Given the description of an element on the screen output the (x, y) to click on. 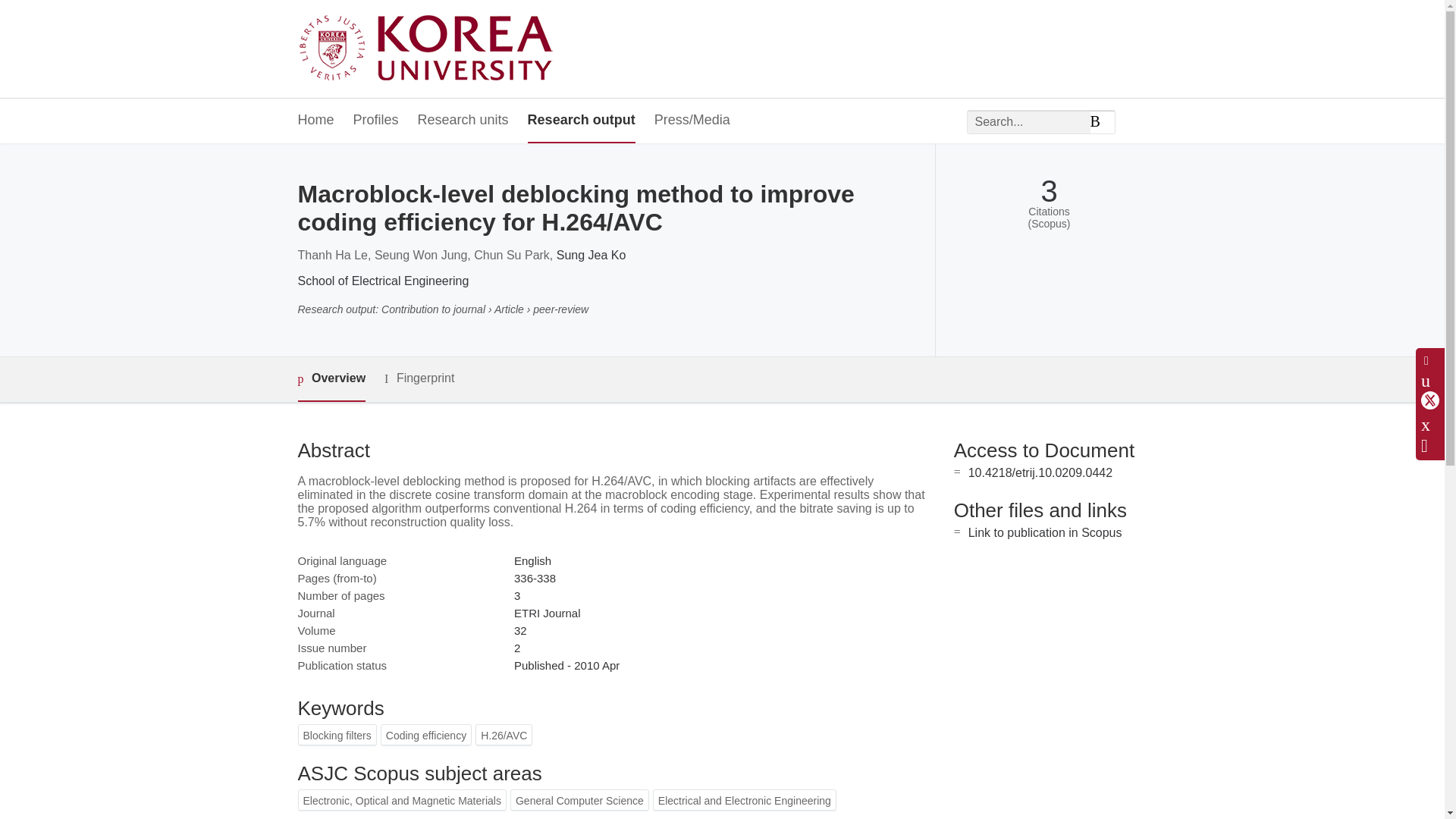
Profiles (375, 120)
Overview (331, 379)
Korea University Home (429, 49)
Link to publication in Scopus (1045, 532)
School of Electrical Engineering (382, 280)
Fingerprint (419, 378)
Research output (580, 120)
Sung Jea Ko (591, 254)
Research units (462, 120)
